Given the description of an element on the screen output the (x, y) to click on. 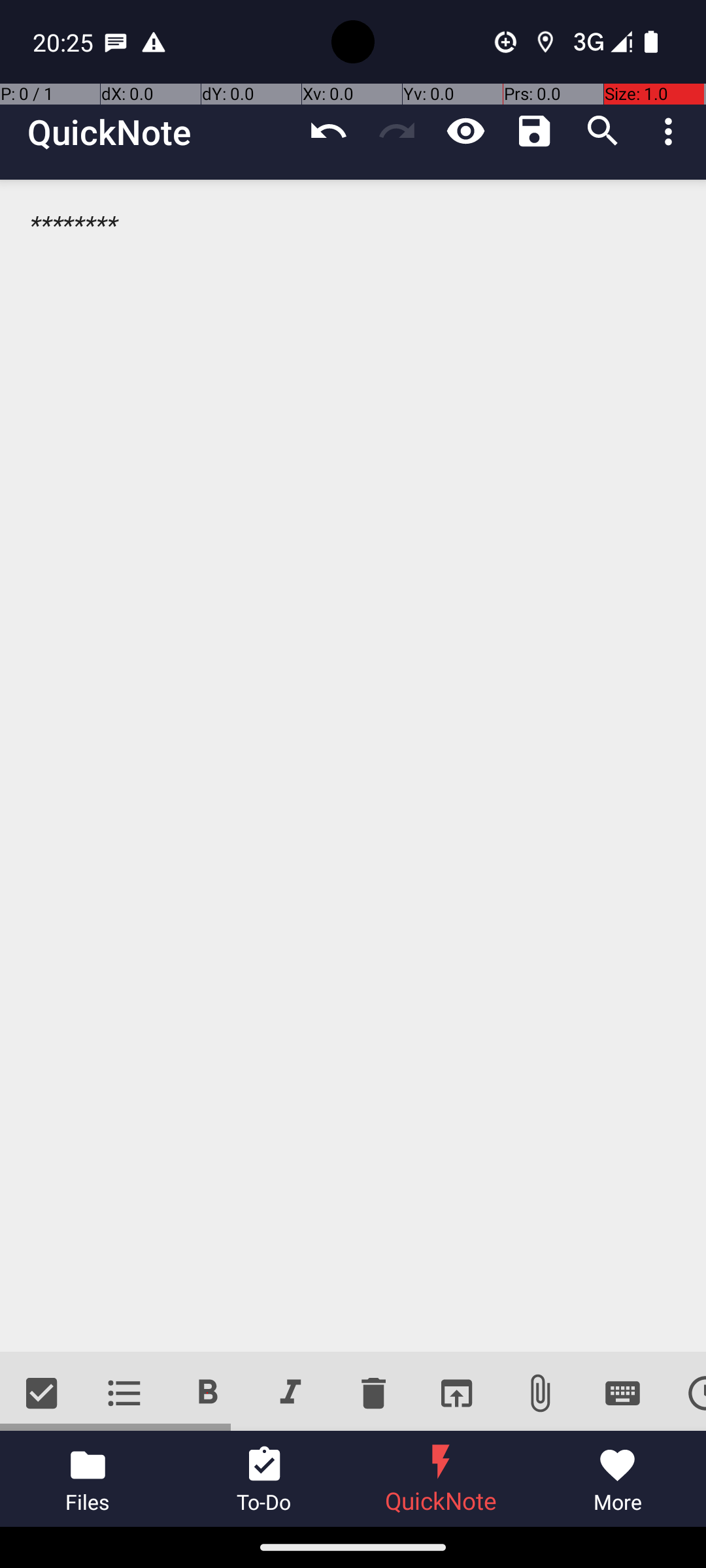
******** Element type: android.widget.EditText (353, 765)
20:25 Element type: android.widget.TextView (64, 41)
